Given the description of an element on the screen output the (x, y) to click on. 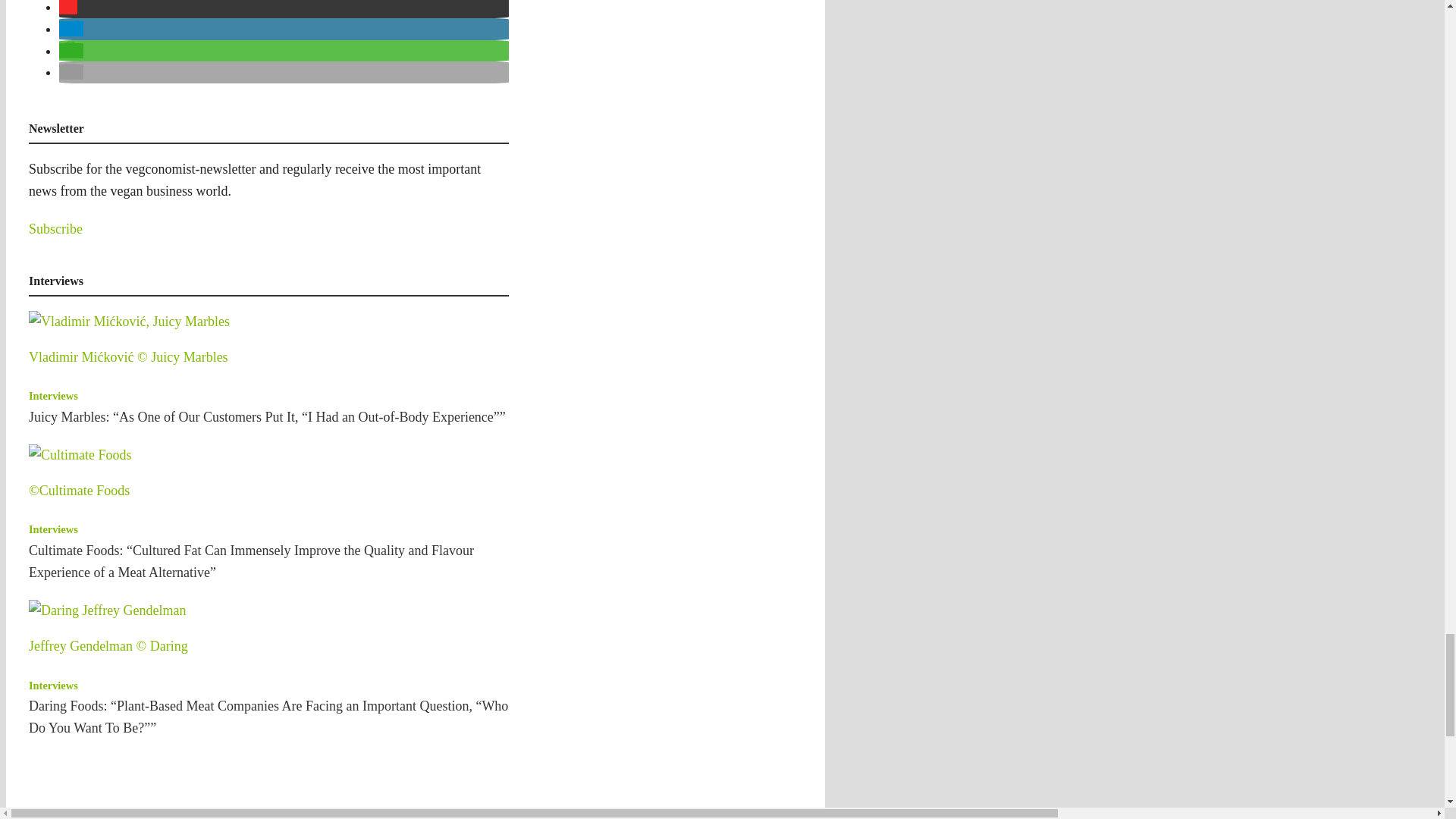
Share on Flipboard (68, 7)
